Given the description of an element on the screen output the (x, y) to click on. 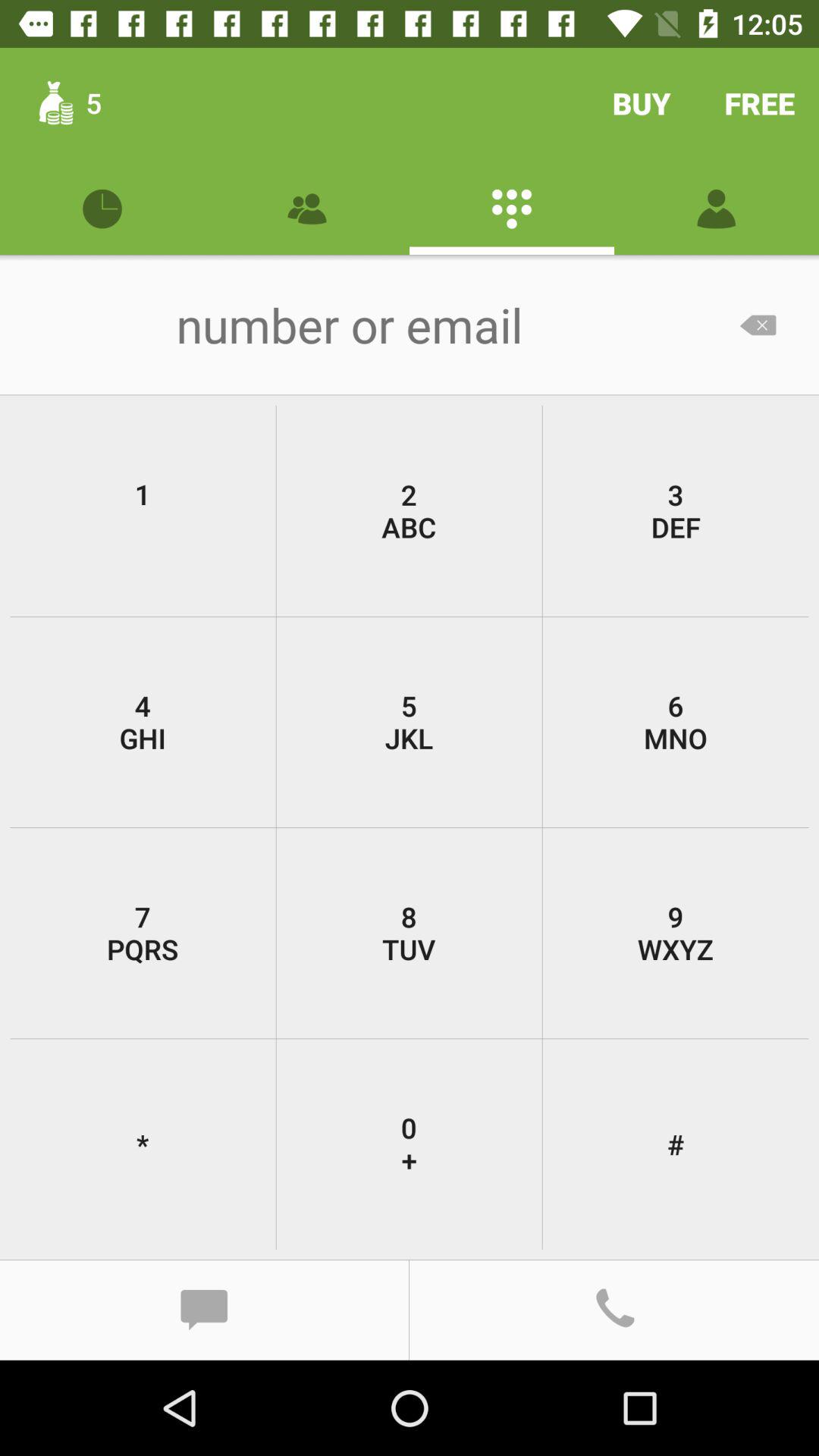
jump to * item (142, 1144)
